Given the description of an element on the screen output the (x, y) to click on. 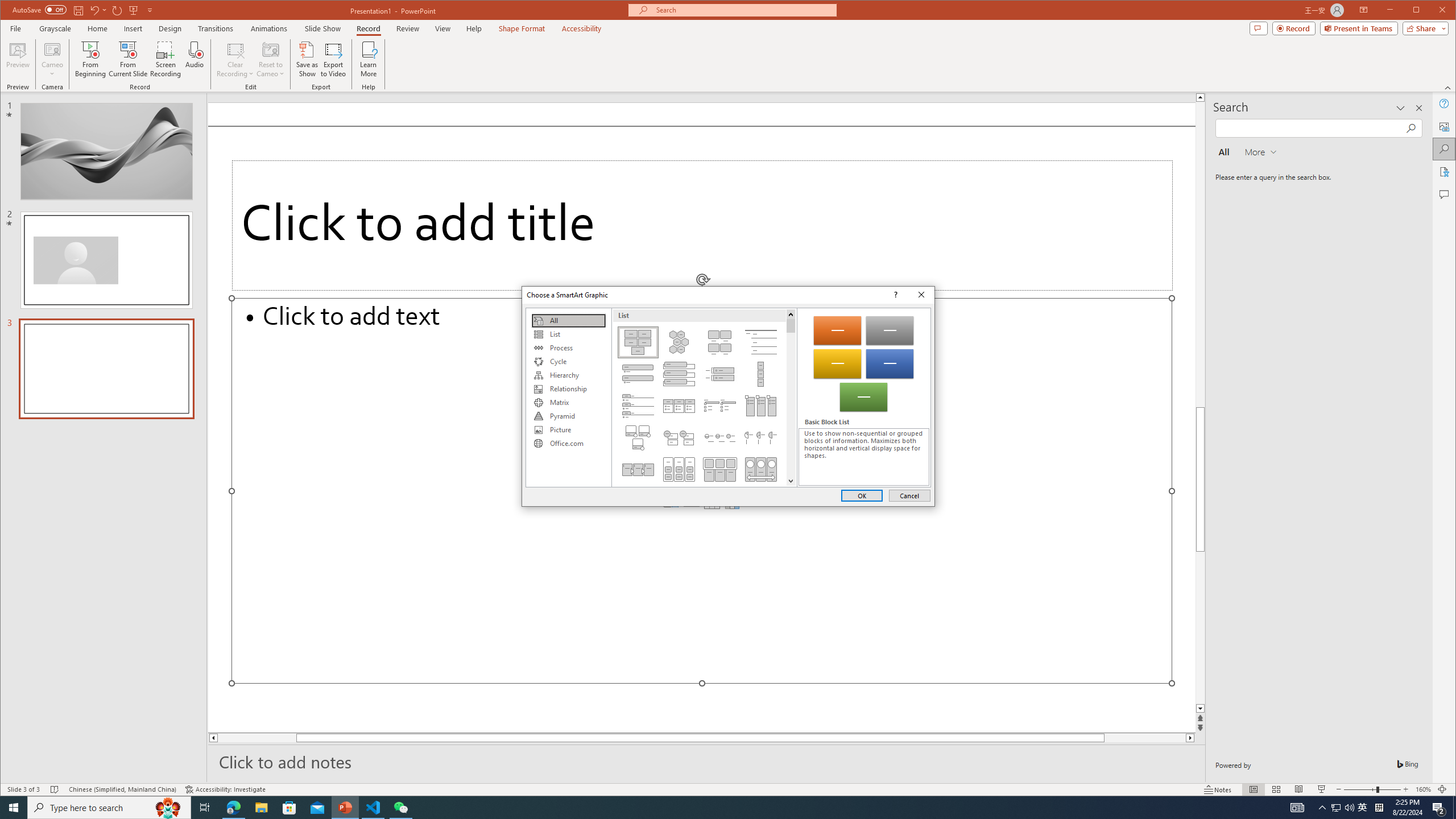
Pie Process (761, 437)
Cycle (568, 361)
Running applications (707, 807)
Detailed Process (637, 469)
